Given the description of an element on the screen output the (x, y) to click on. 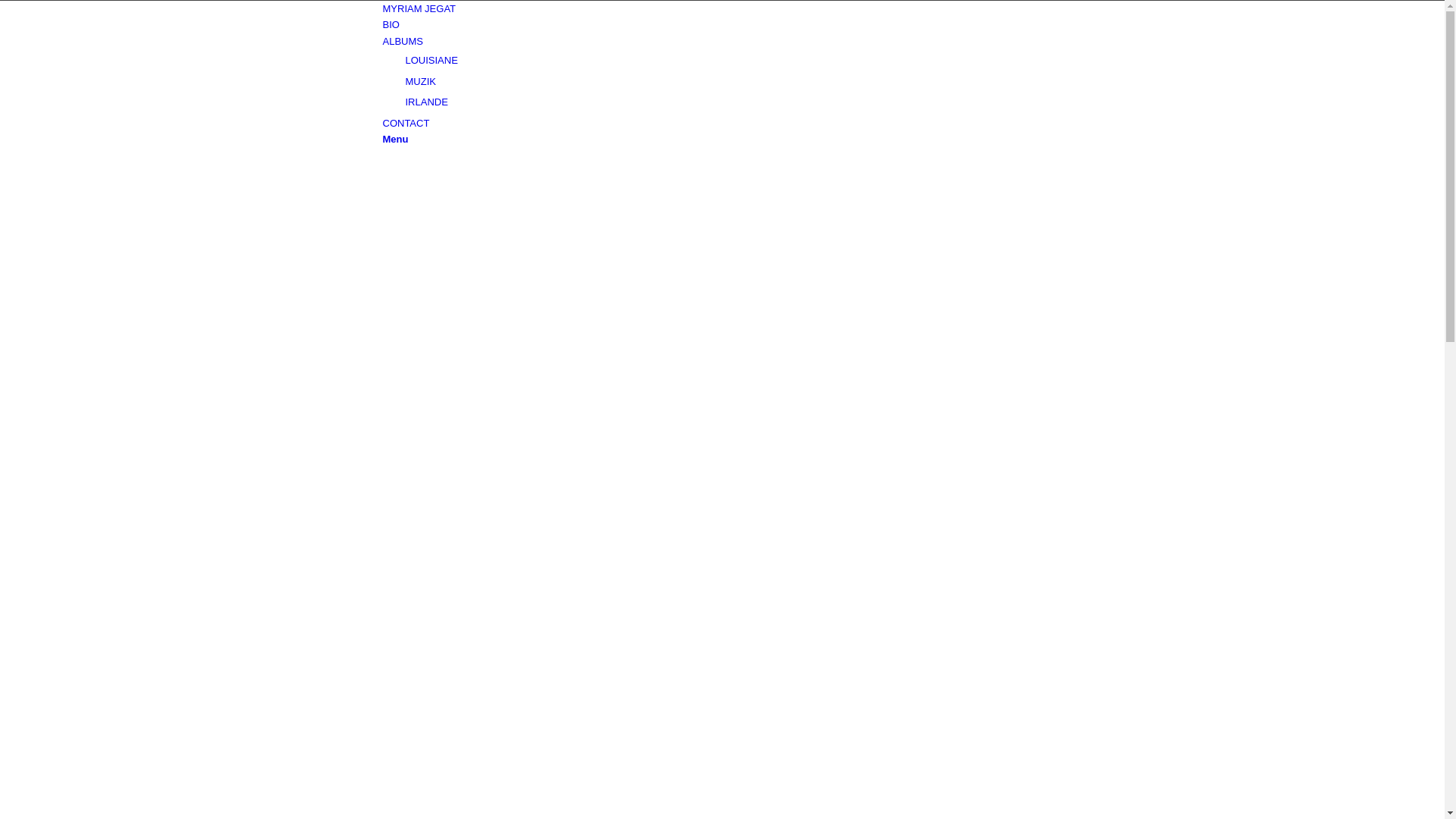
CONTACT Element type: text (405, 122)
LOUISIANE Element type: text (430, 59)
BIO Element type: text (390, 24)
MUZIK Element type: text (419, 81)
ALBUMS Element type: text (402, 41)
IRLANDE Element type: text (425, 101)
MYRIAM JEGAT Element type: text (418, 8)
Menu Element type: text (394, 138)
